Given the description of an element on the screen output the (x, y) to click on. 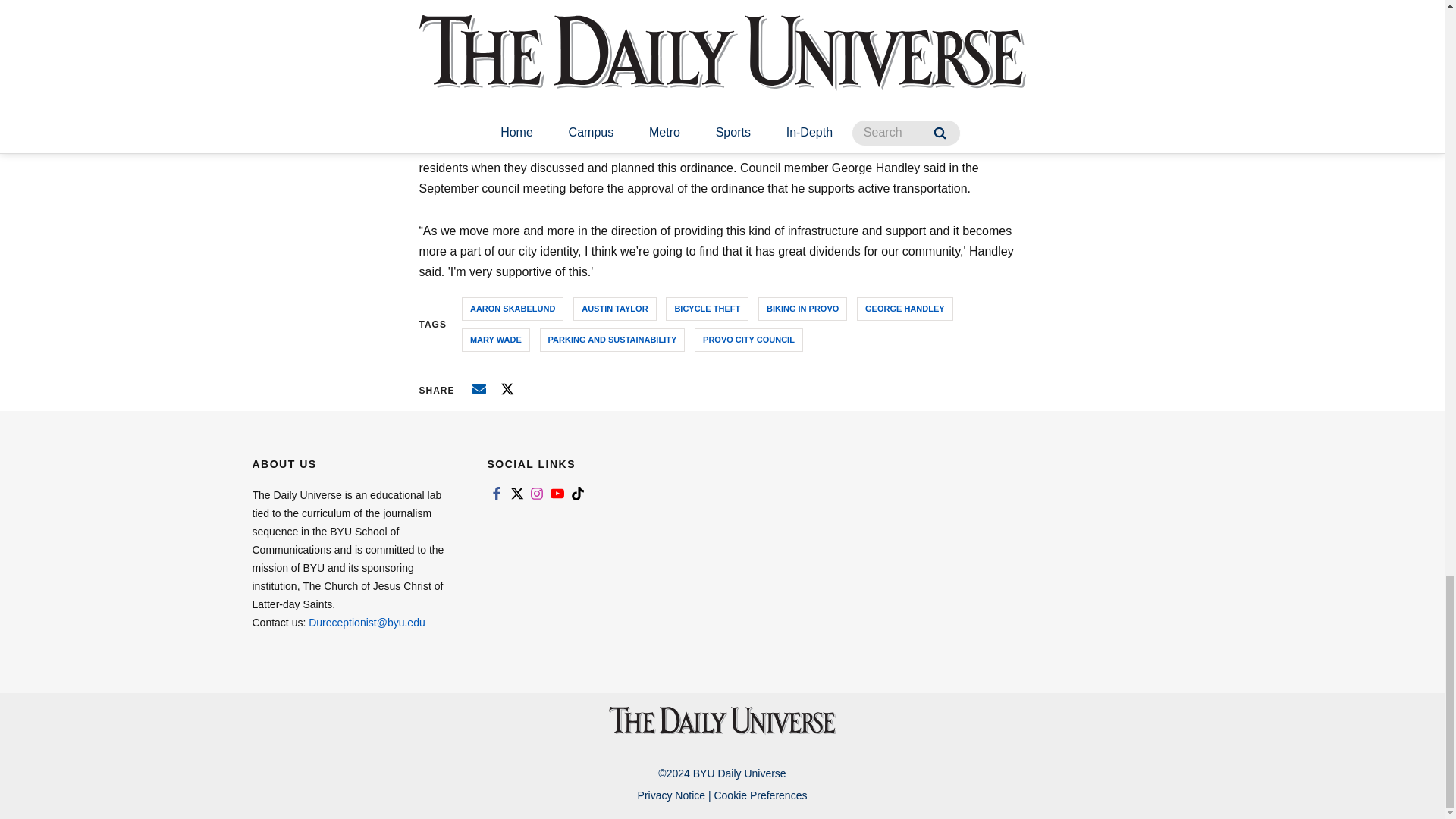
Link to twitter (515, 493)
AUSTIN TAYLOR (614, 309)
Link to instagram (536, 493)
Privacy Notice (670, 795)
GEORGE HANDLEY (905, 309)
Link to facebook (495, 493)
AARON SKABELUND (512, 309)
PROVO CITY COUNCIL (748, 340)
MARY WADE (495, 340)
Link to youtube (557, 493)
